Given the description of an element on the screen output the (x, y) to click on. 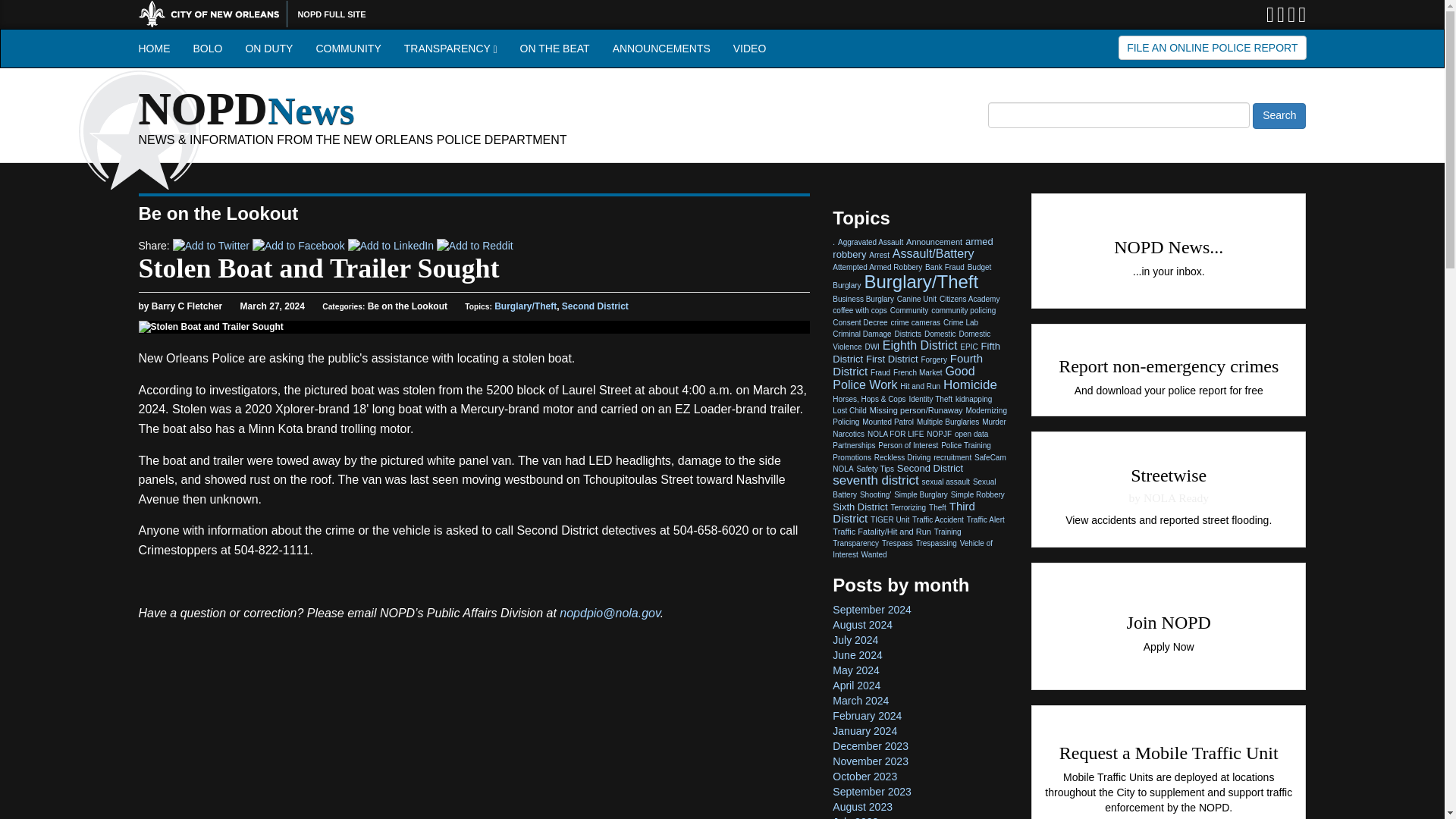
TRANSPARENCY  (450, 48)
HOME (155, 48)
Add to LinkedIn (390, 245)
Burglary (846, 285)
Search (1279, 115)
Add to Twitter (210, 245)
VIDEO (749, 48)
Attempted Armed Robbery (876, 266)
Apply Online (1164, 631)
ON DUTY (268, 48)
